Given the description of an element on the screen output the (x, y) to click on. 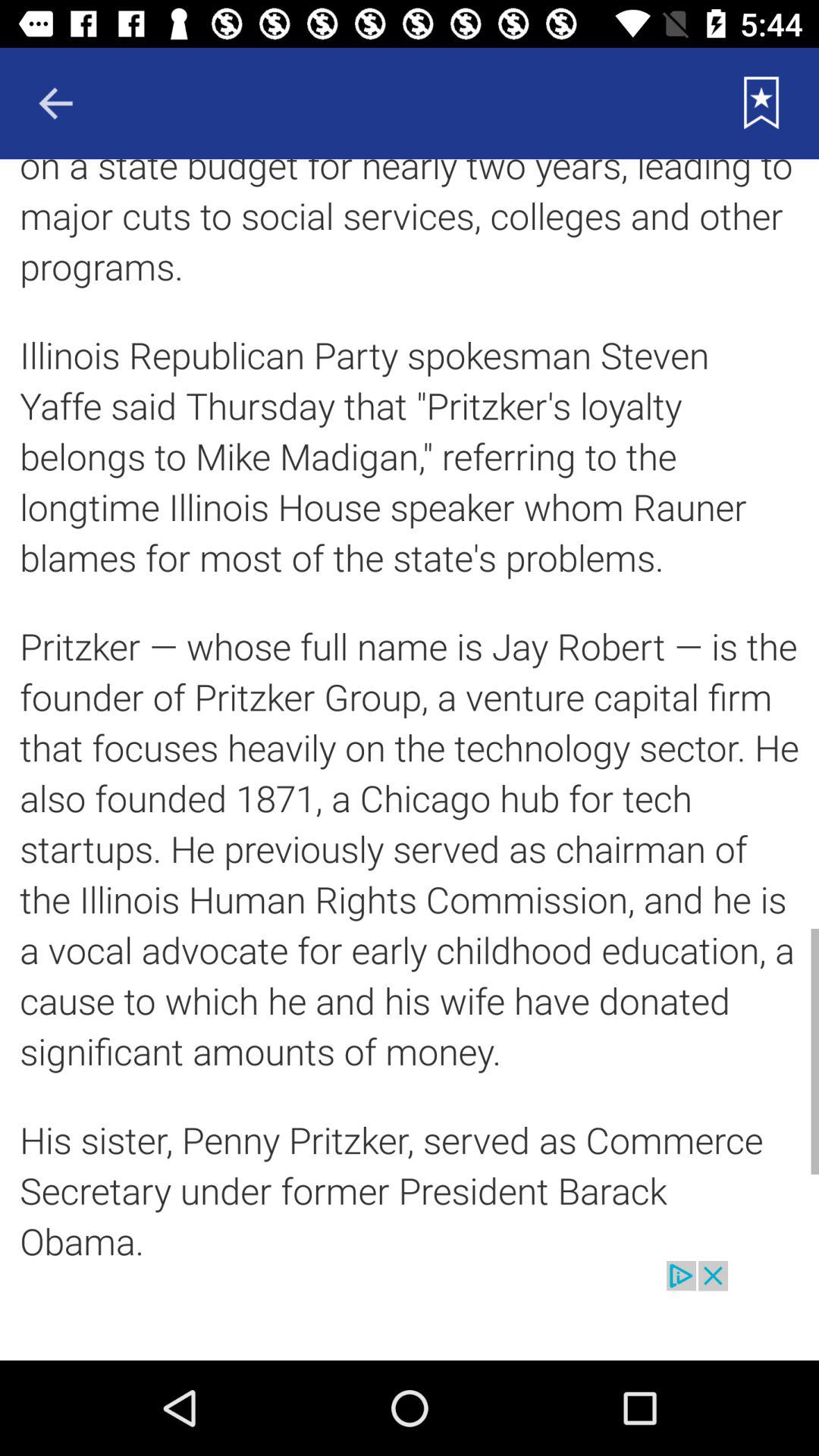
click on text (409, 709)
